Given the description of an element on the screen output the (x, y) to click on. 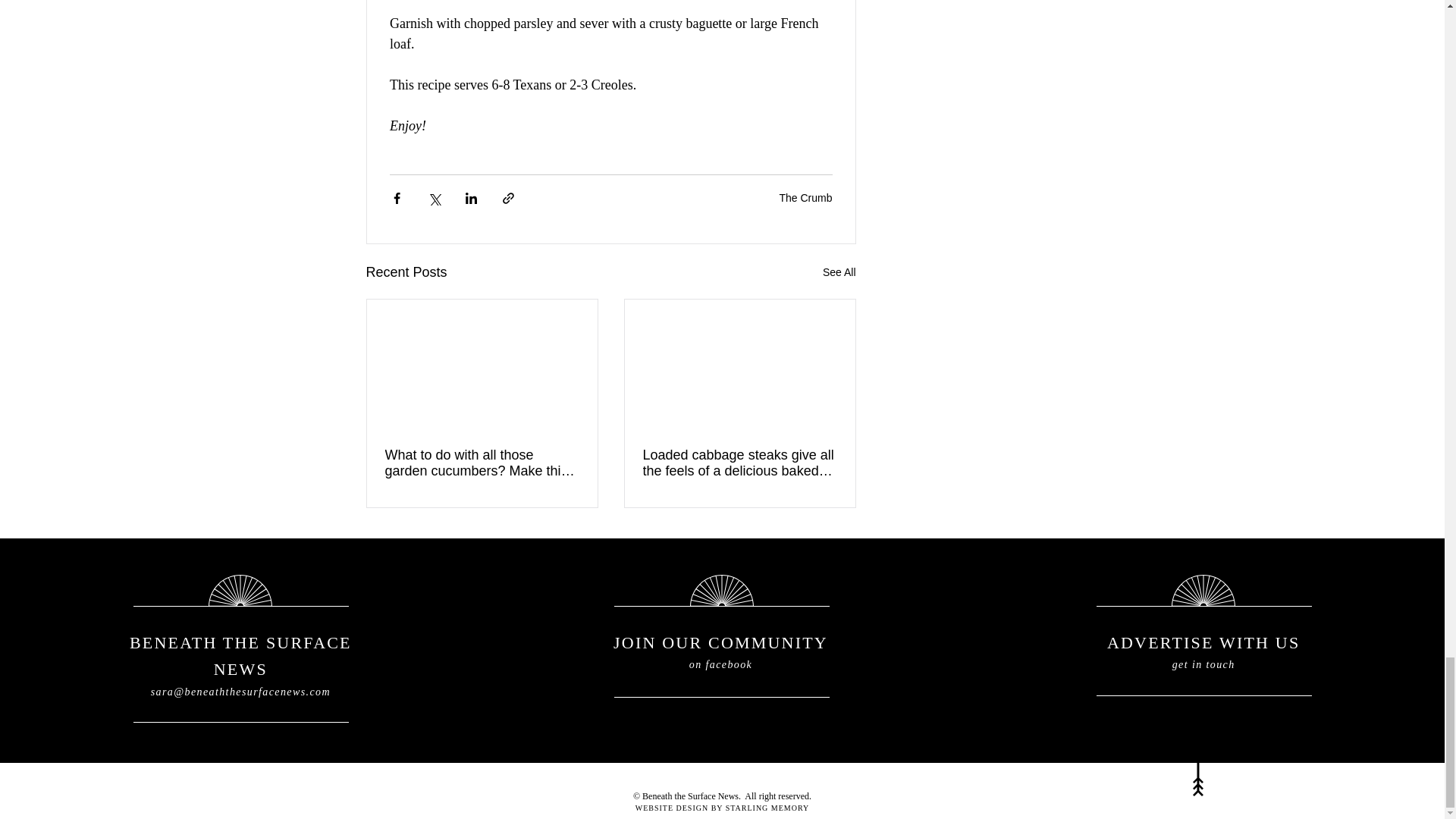
get in touch (1203, 664)
WEBSITE DESIGN BY STARLING MEMORY (721, 807)
on facebook (720, 664)
See All (839, 272)
The Crumb (804, 197)
